Given the description of an element on the screen output the (x, y) to click on. 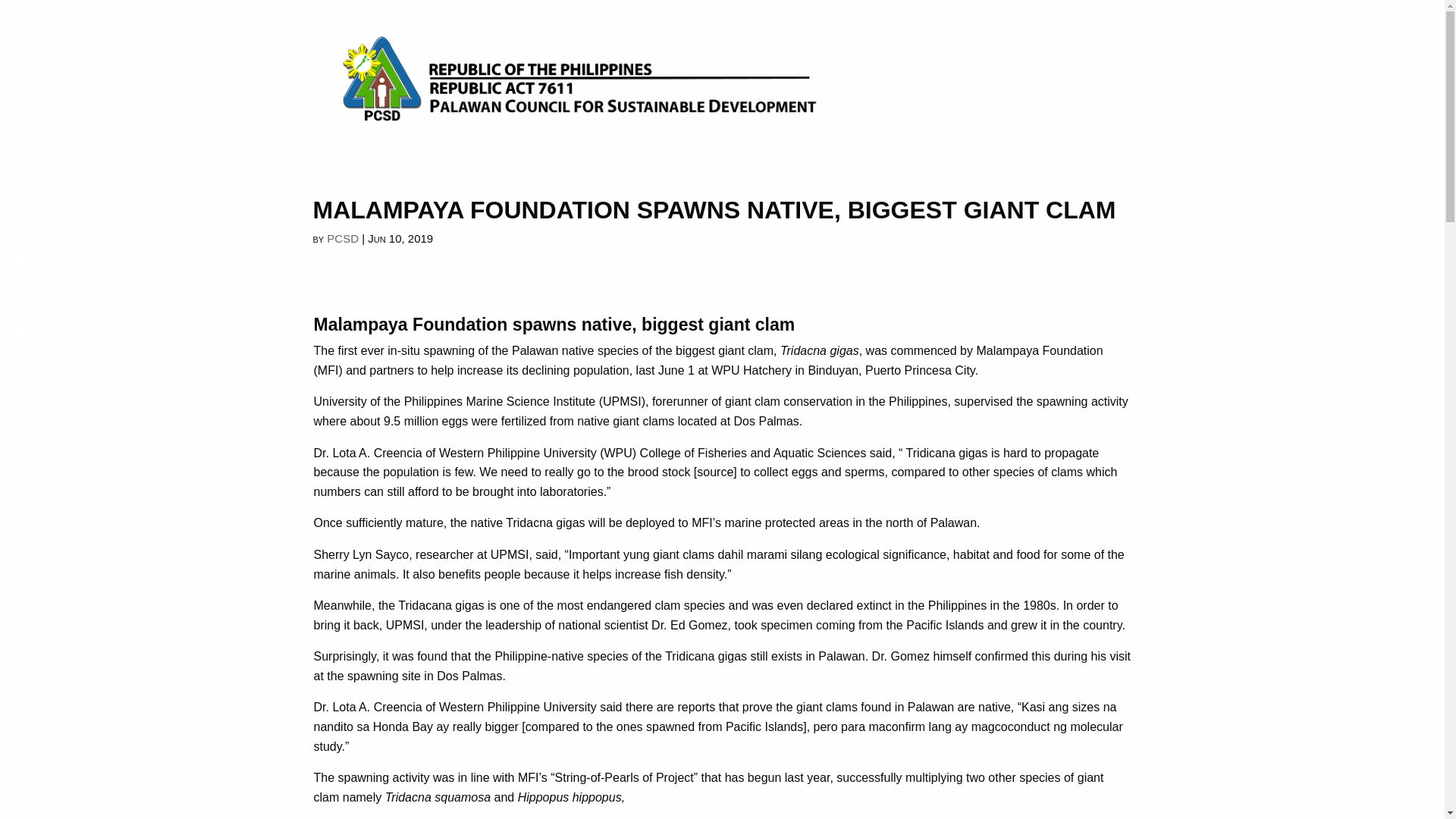
Posts by PCSD (342, 241)
PCSD (342, 241)
BannerPCSD1190by140-1 (722, 79)
